Given the description of an element on the screen output the (x, y) to click on. 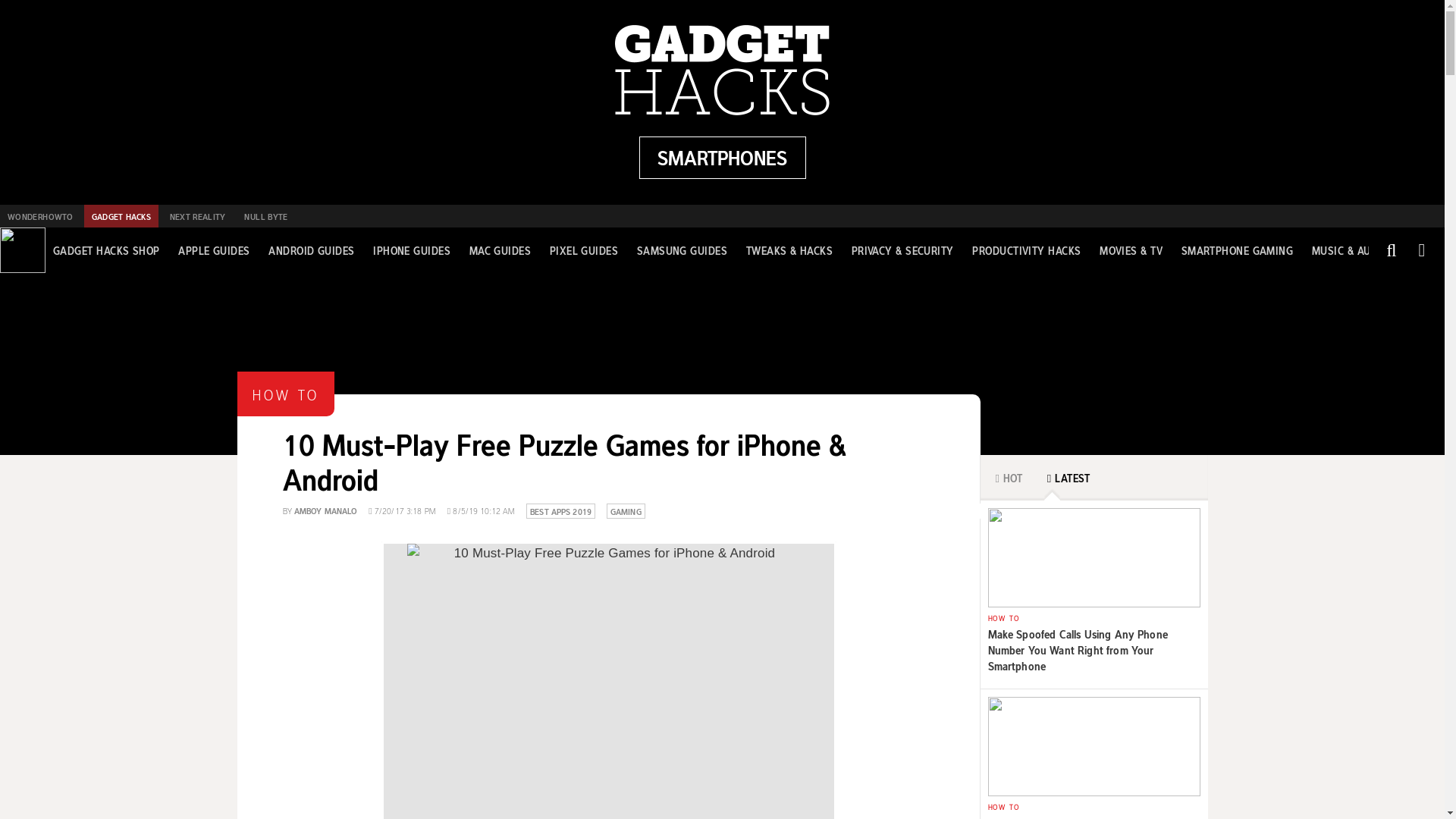
IPHONE GUIDES (410, 249)
BEST APPS 2019 (560, 510)
NEXT REALITY (196, 215)
help for cell phones, pdas, iphones, android, and more (722, 157)
SMARTPHONES (722, 157)
PIXEL GUIDES (583, 249)
NULL BYTE (265, 215)
GADGET HACKS SHOP (106, 249)
ANDROID GUIDES (310, 249)
GADGET HACKS (121, 215)
